Given the description of an element on the screen output the (x, y) to click on. 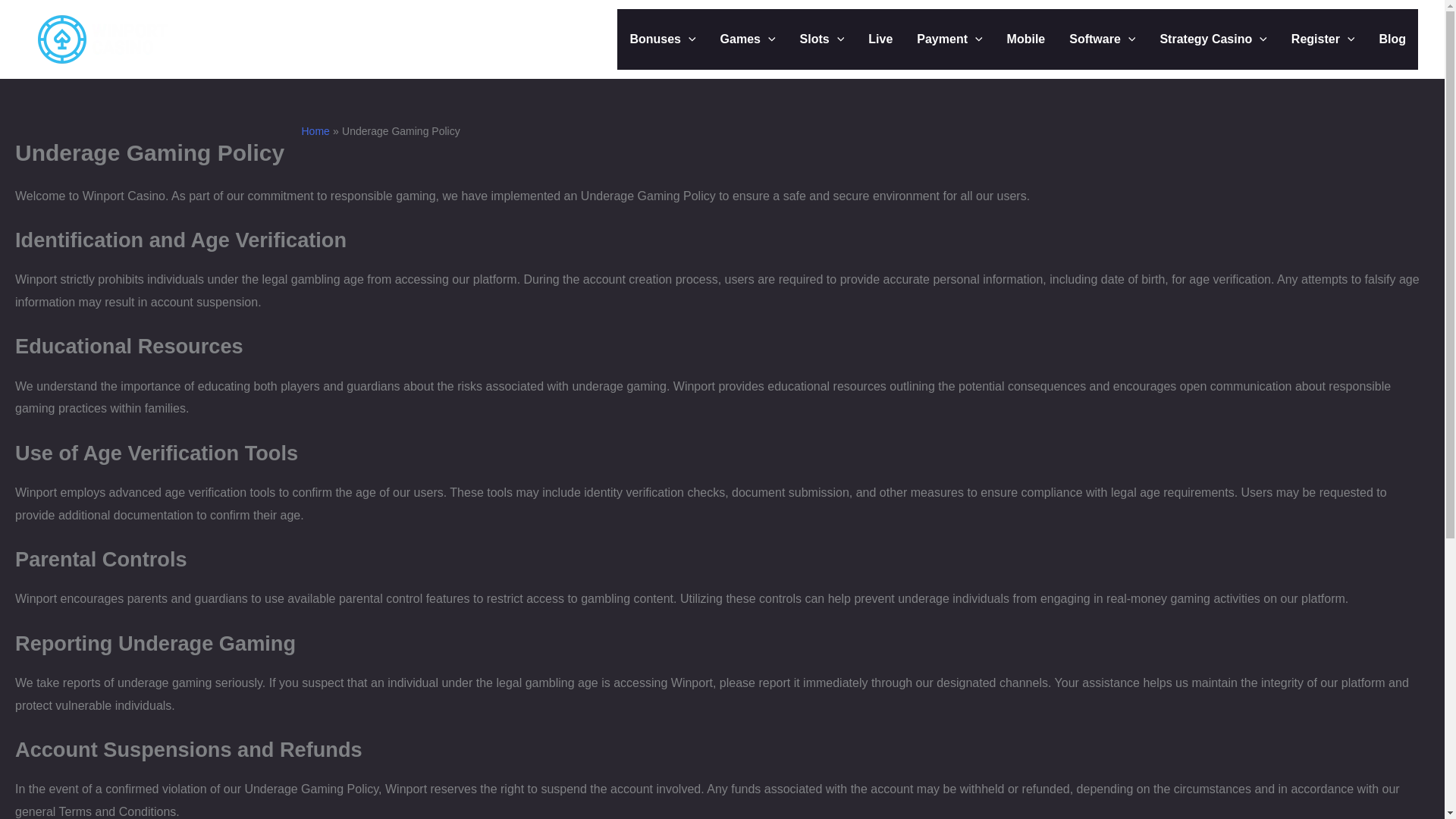
Bonuses (662, 39)
Games (747, 39)
Slots (822, 39)
